Given the description of an element on the screen output the (x, y) to click on. 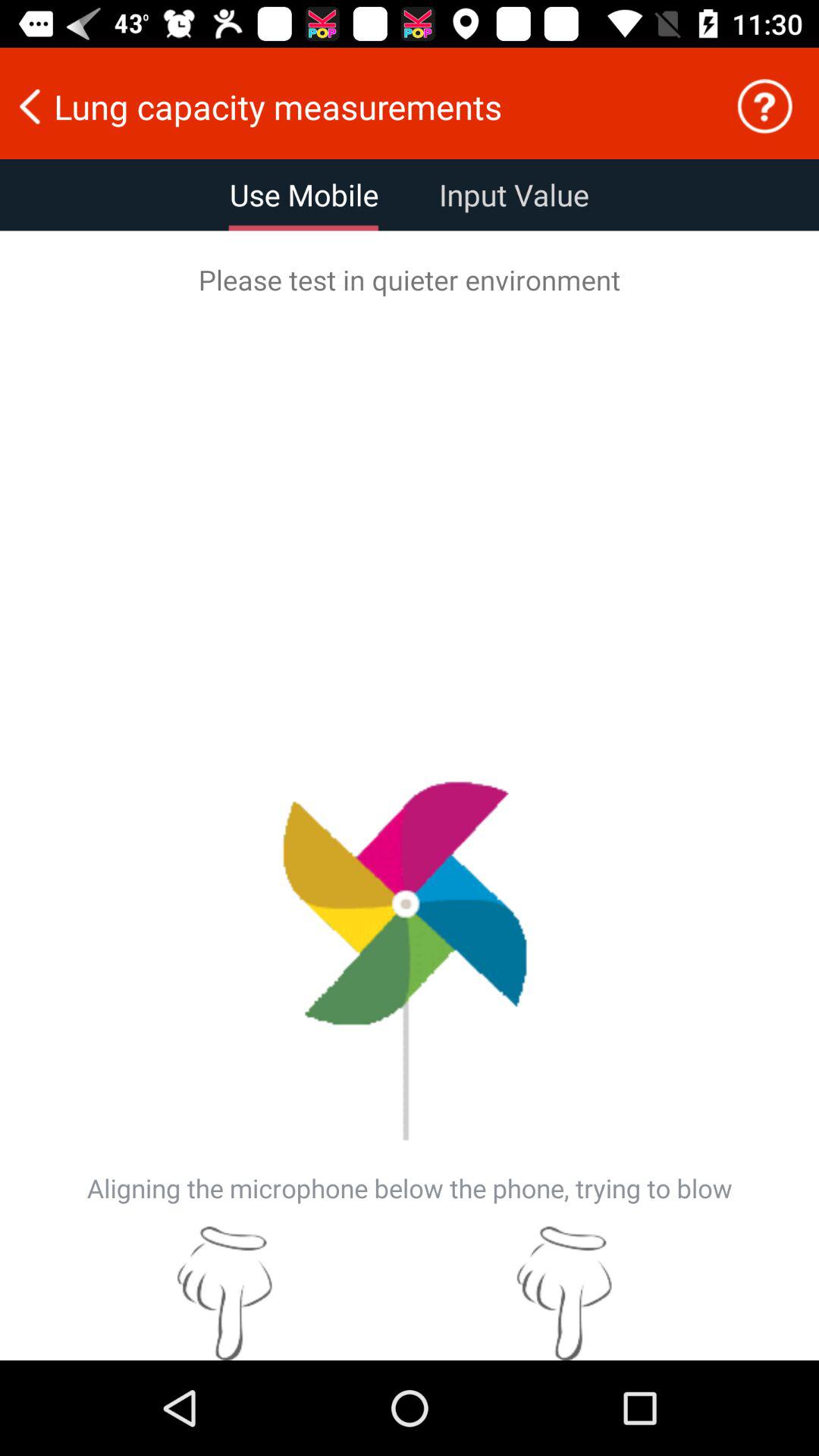
turn off item to the right of lung capacity measurements icon (764, 106)
